Given the description of an element on the screen output the (x, y) to click on. 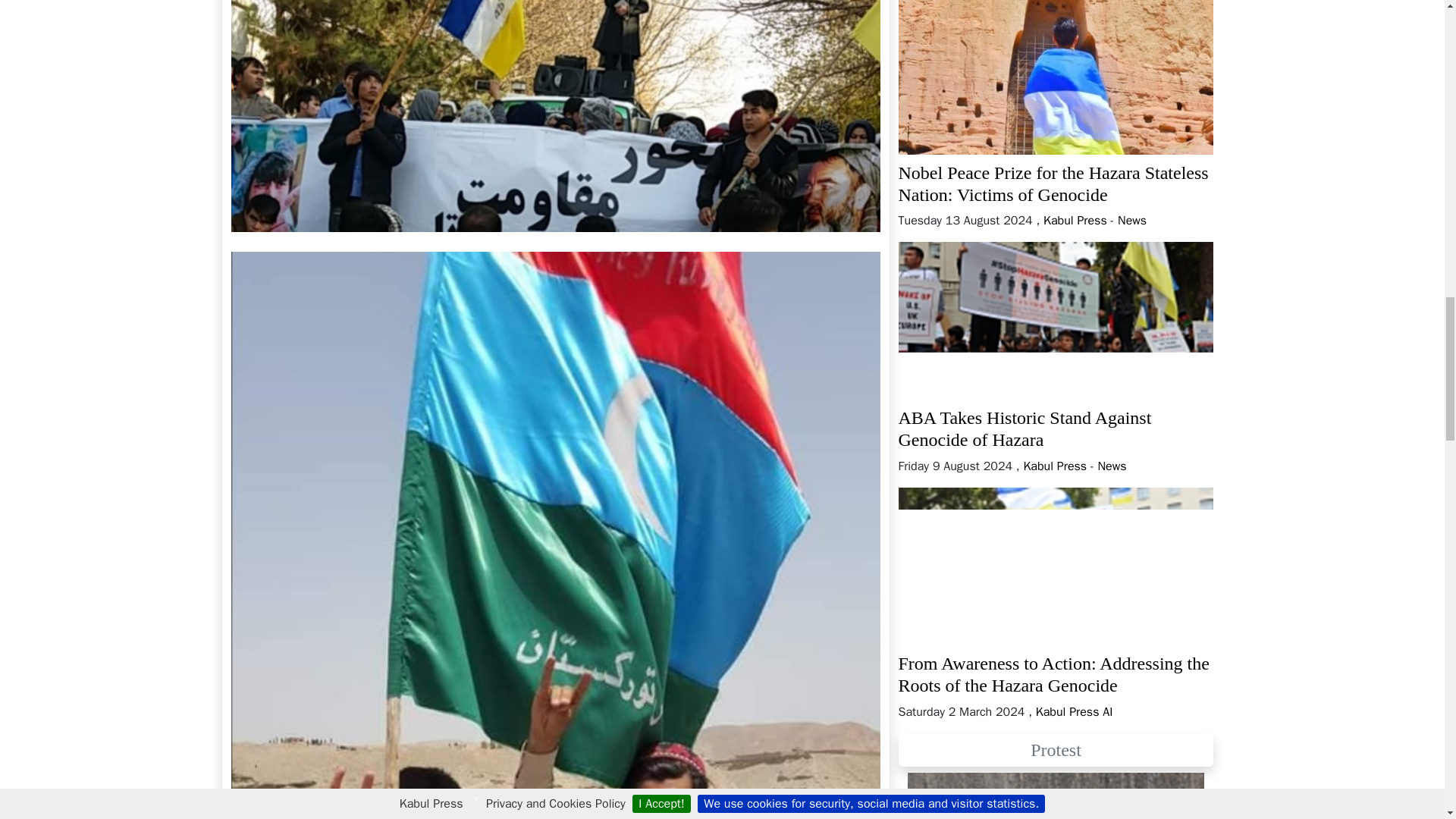
2024-08-13T12:16:46Z (965, 220)
2024-08-09T08:54:36Z (954, 466)
2024-03-02T12:04:35Z (961, 711)
